Given the description of an element on the screen output the (x, y) to click on. 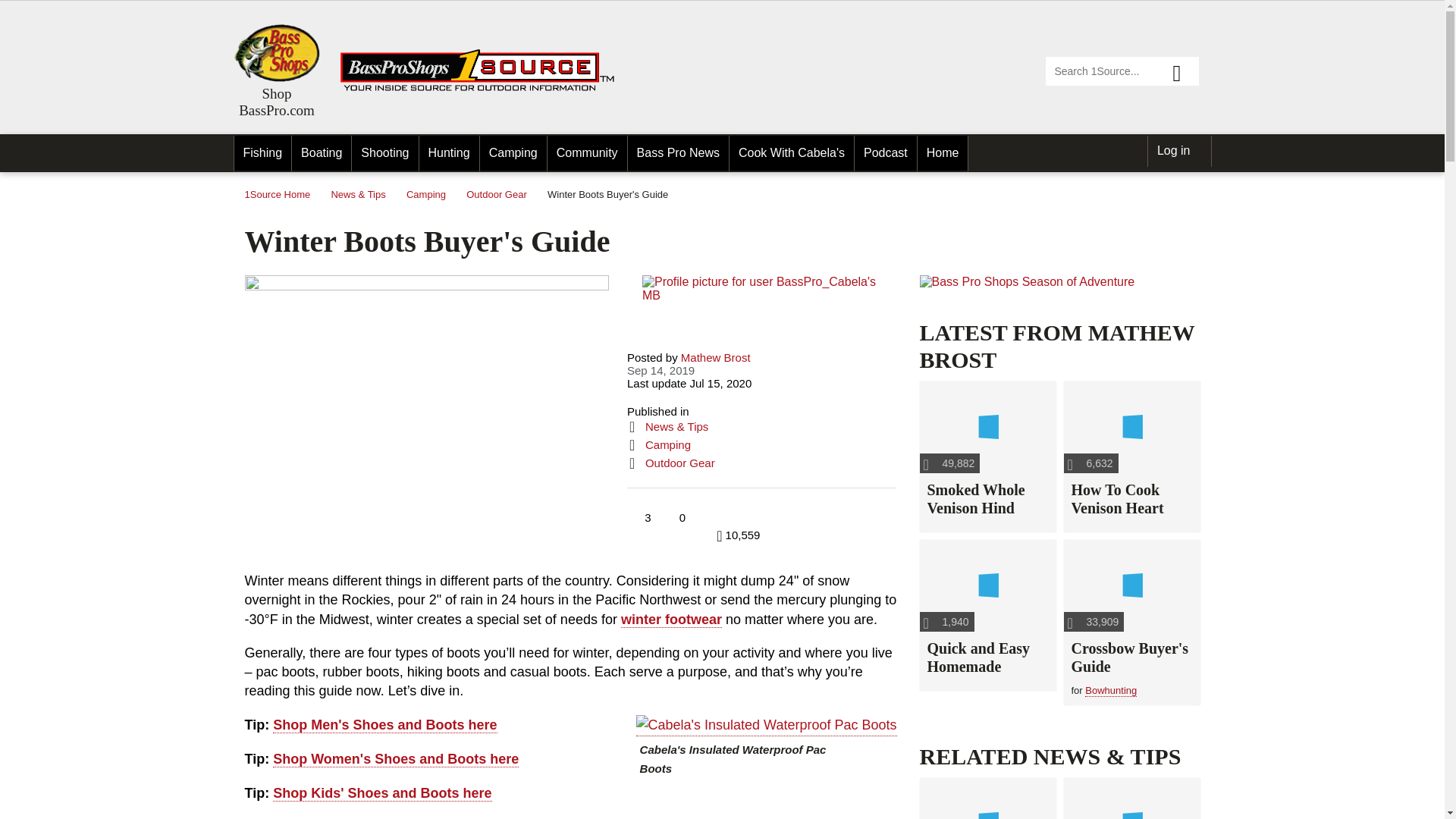
Enter the terms you wish to search for. (1121, 70)
Shooting (385, 153)
Search (1183, 71)
Shop BassPro.com (276, 52)
Shop BassPro.com (276, 101)
Search (1183, 71)
Fishing (262, 153)
Return to Bass Pro 1Source home (483, 88)
